Given the description of an element on the screen output the (x, y) to click on. 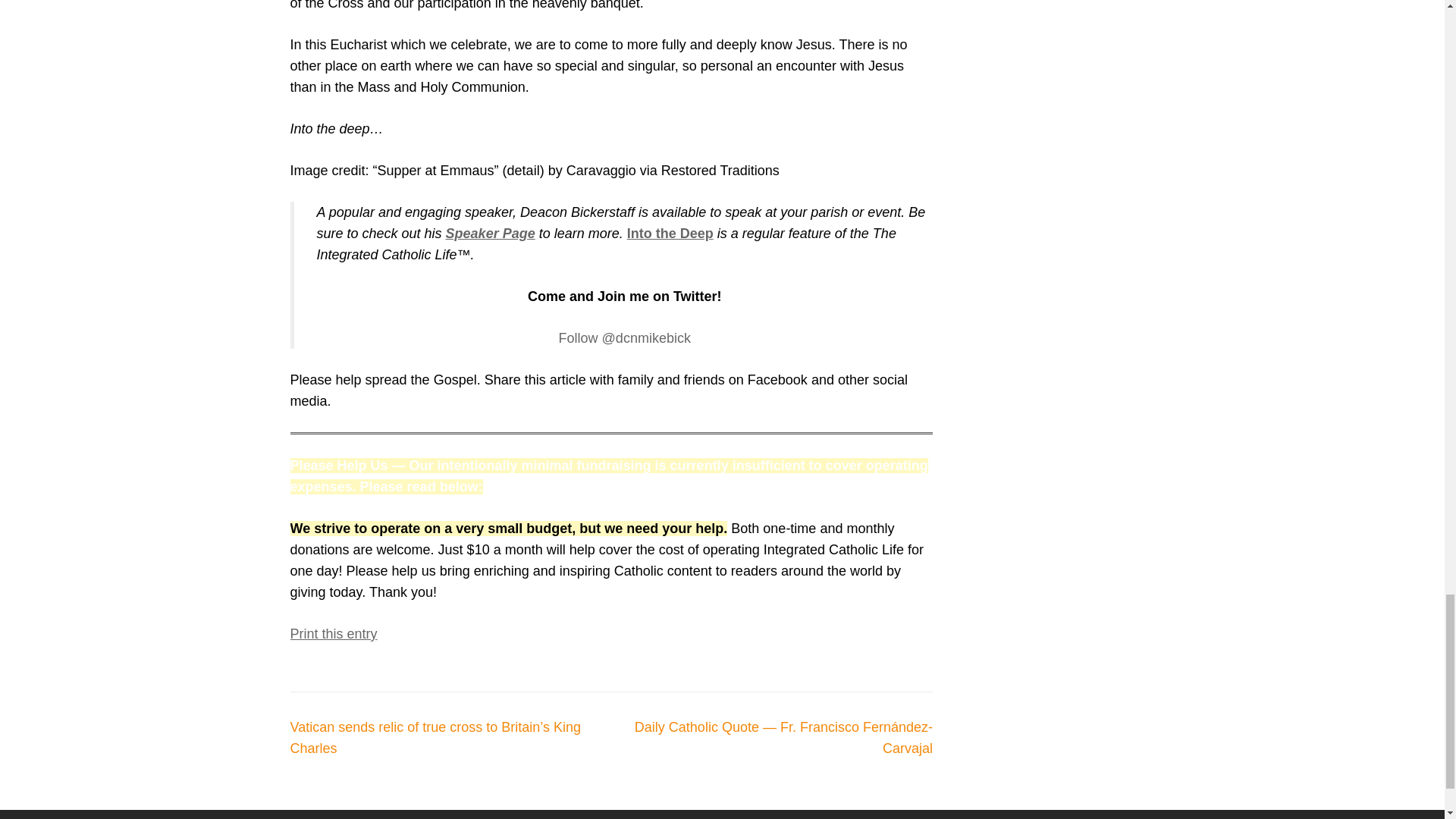
Print this entry (333, 633)
Into the Deep (670, 233)
Speaker Page (490, 233)
